Given the description of an element on the screen output the (x, y) to click on. 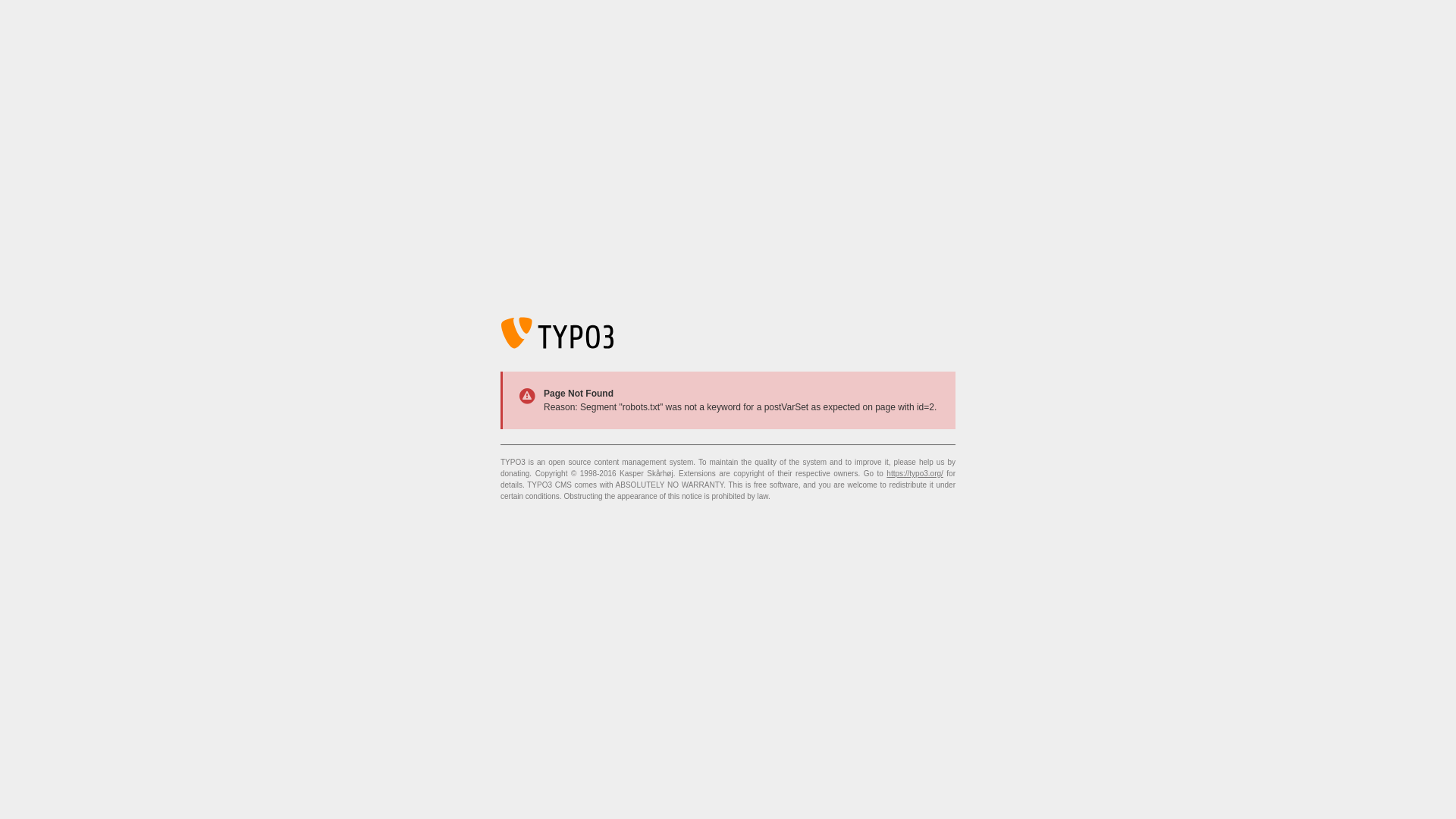
https://typo3.org/ Element type: text (914, 473)
